Given the description of an element on the screen output the (x, y) to click on. 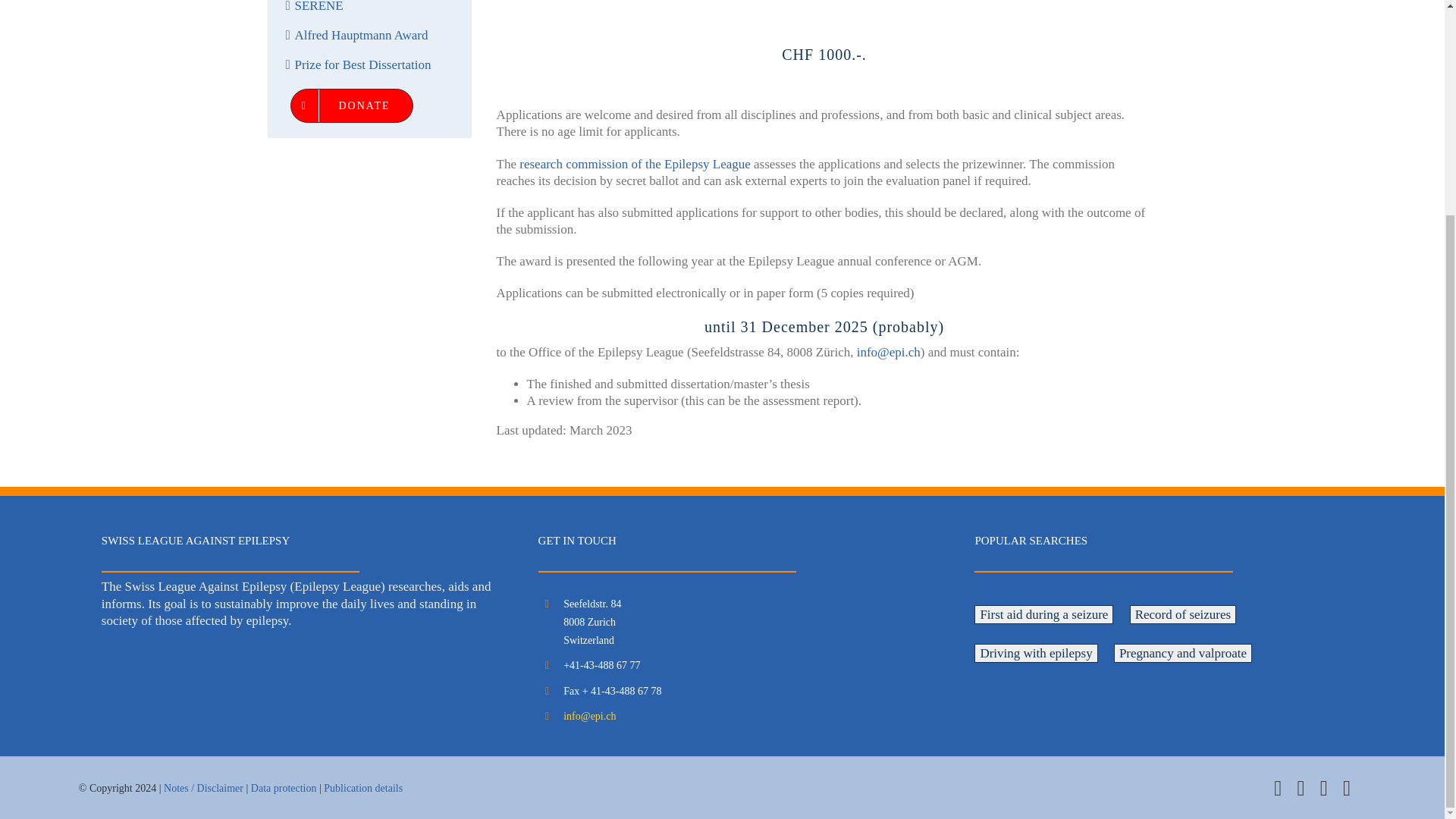
Driving with epilepsy (1035, 652)
Data protection (283, 787)
Publication details (363, 787)
First aid during a seizure (1043, 614)
Record of seizures (1182, 614)
Pregnancy and valproate (1182, 652)
